Given the description of an element on the screen output the (x, y) to click on. 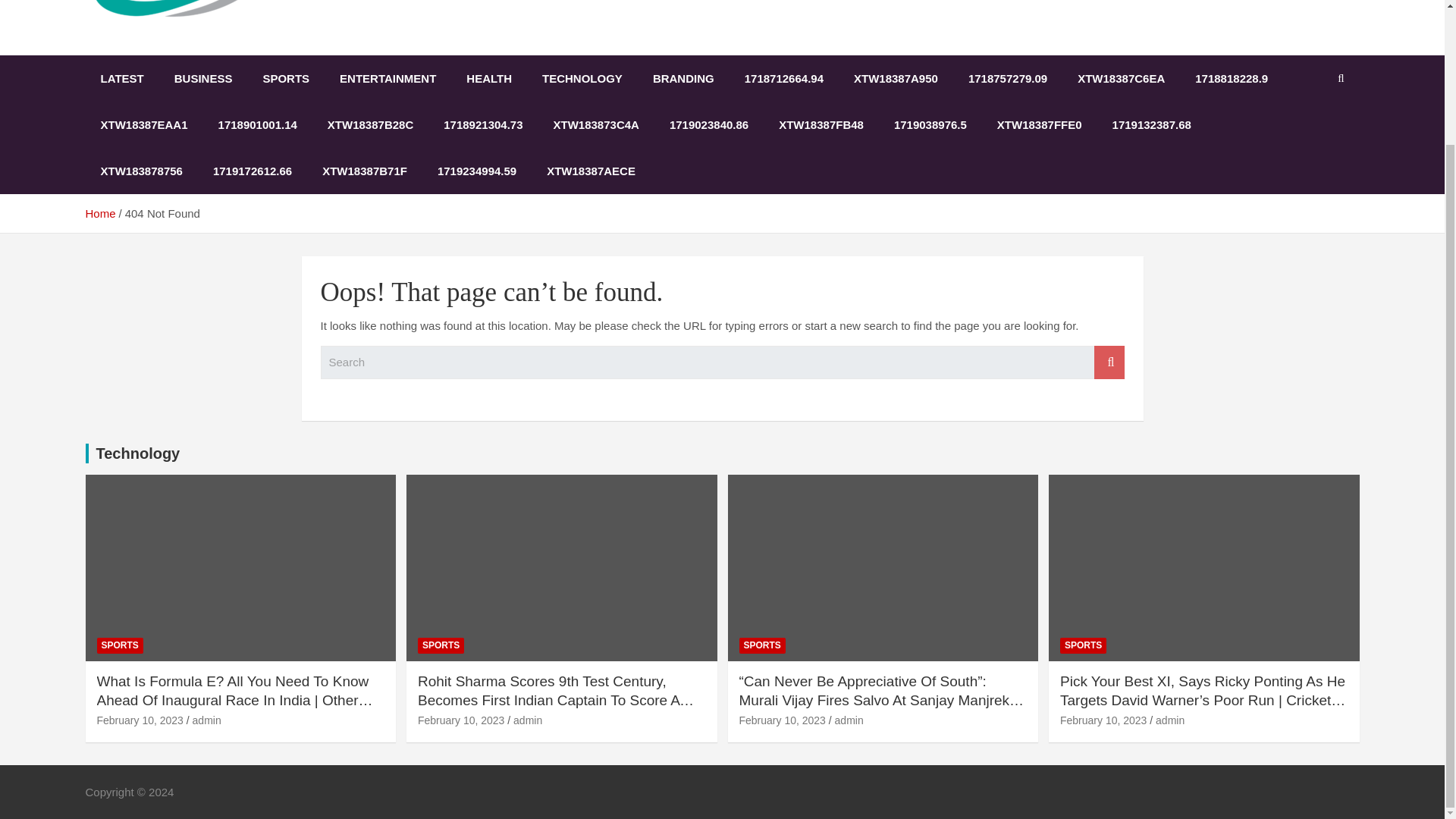
BUSINESS (202, 78)
BRANDING (683, 78)
Technology (137, 453)
XTW183878756 (140, 171)
1719172612.66 (252, 171)
XTW18387EAA1 (143, 124)
ENTERTAINMENT (387, 78)
XTW18387FB48 (820, 124)
1719234994.59 (476, 171)
XTW18387AECE (590, 171)
1718757279.09 (1007, 78)
SPORTS (285, 78)
1719038976.5 (930, 124)
1719023840.86 (707, 124)
HEALTH (489, 78)
